Given the description of an element on the screen output the (x, y) to click on. 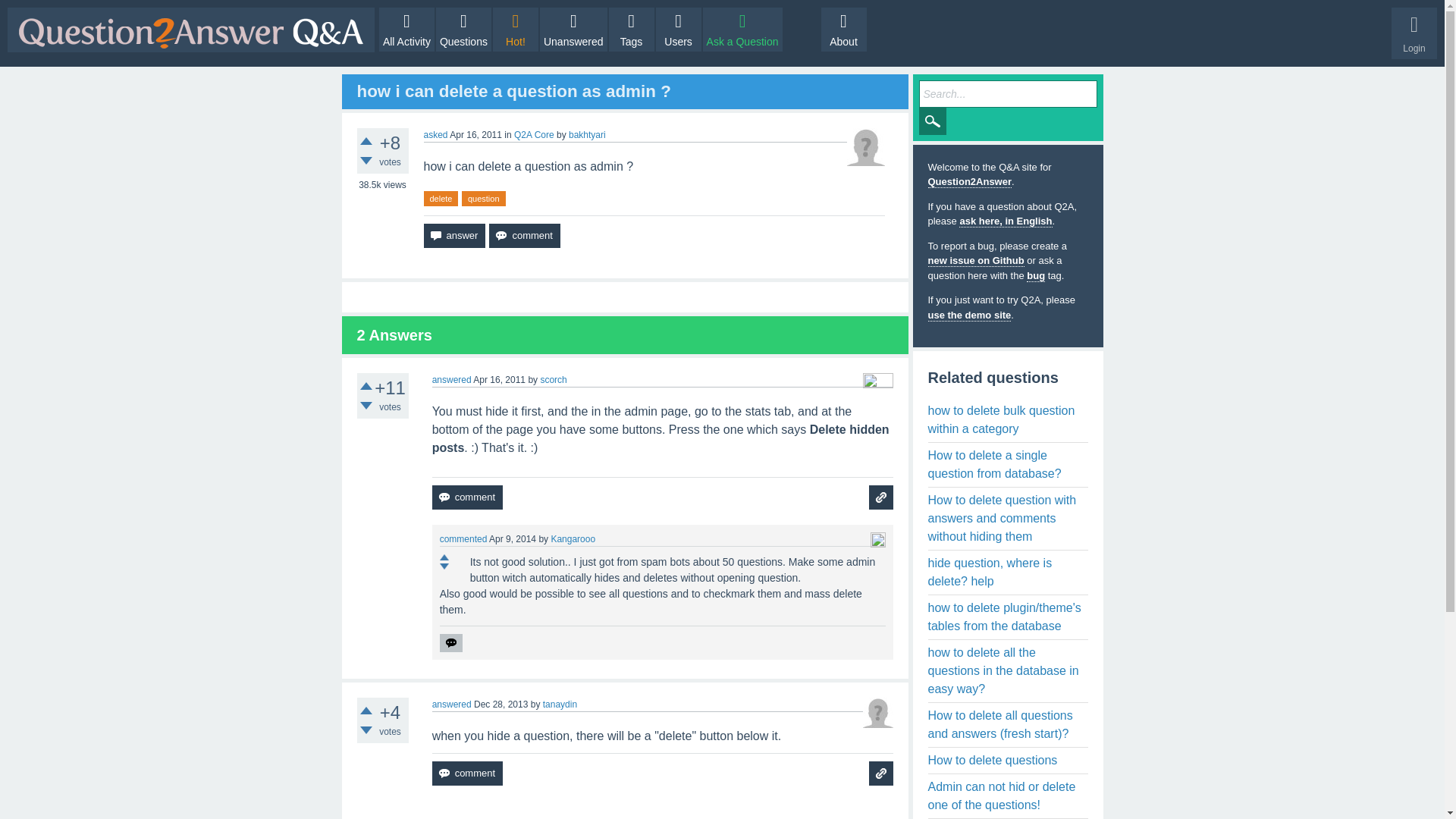
reply (451, 642)
ask related question (881, 497)
Tags (630, 29)
delete (440, 198)
Click to vote up (365, 385)
Click to vote down (365, 405)
Q2A Core (533, 134)
Ask a new question relating to this answer (881, 497)
Reply to this comment (451, 642)
answered (451, 379)
